Given the description of an element on the screen output the (x, y) to click on. 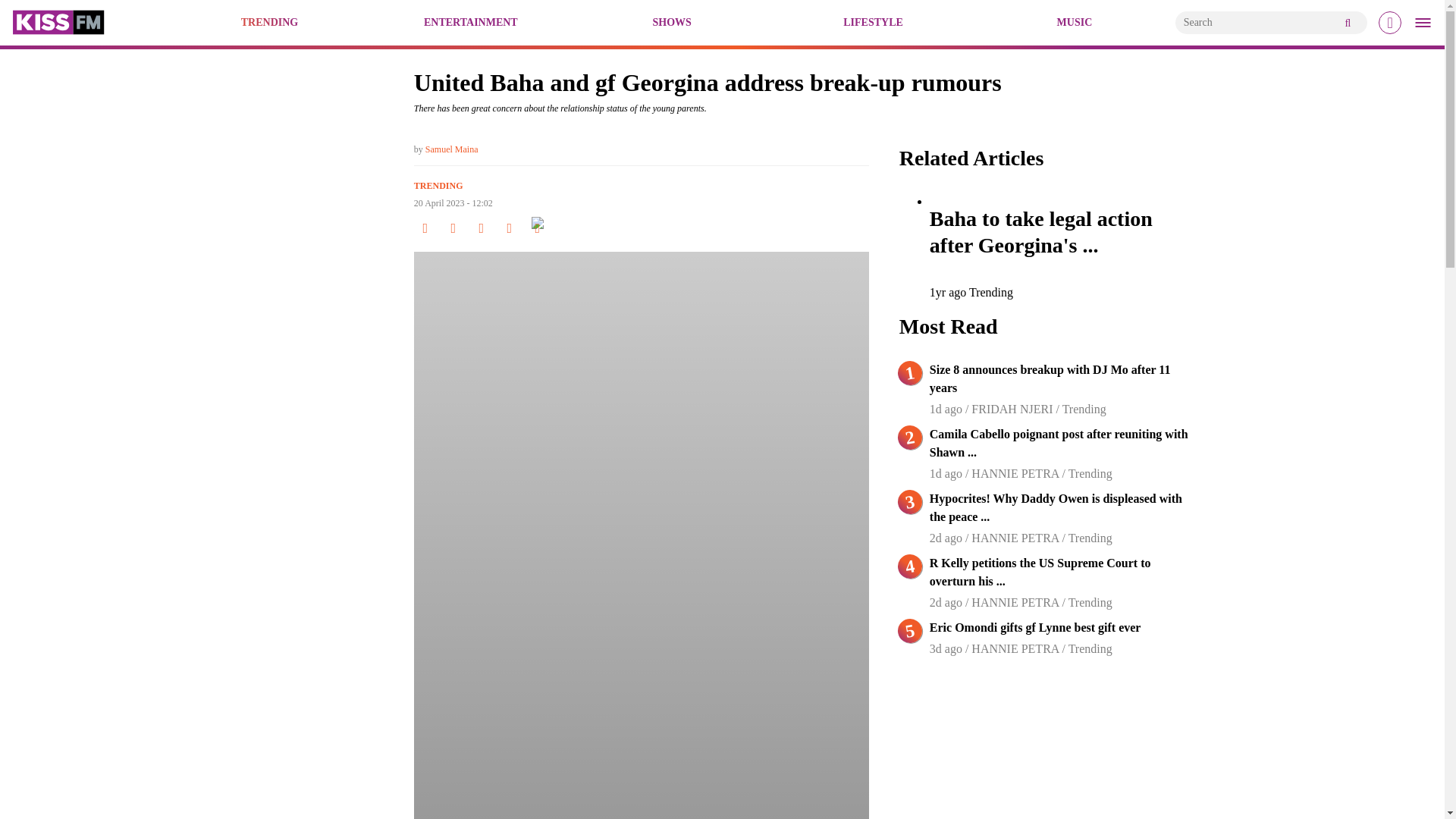
TRENDING (438, 185)
ENTERTAINMENT (470, 22)
United Baha and gf Georgina address break-up rumours (57, 22)
TRENDING (269, 22)
LIFESTYLE (872, 22)
Share by Email (536, 228)
